Given the description of an element on the screen output the (x, y) to click on. 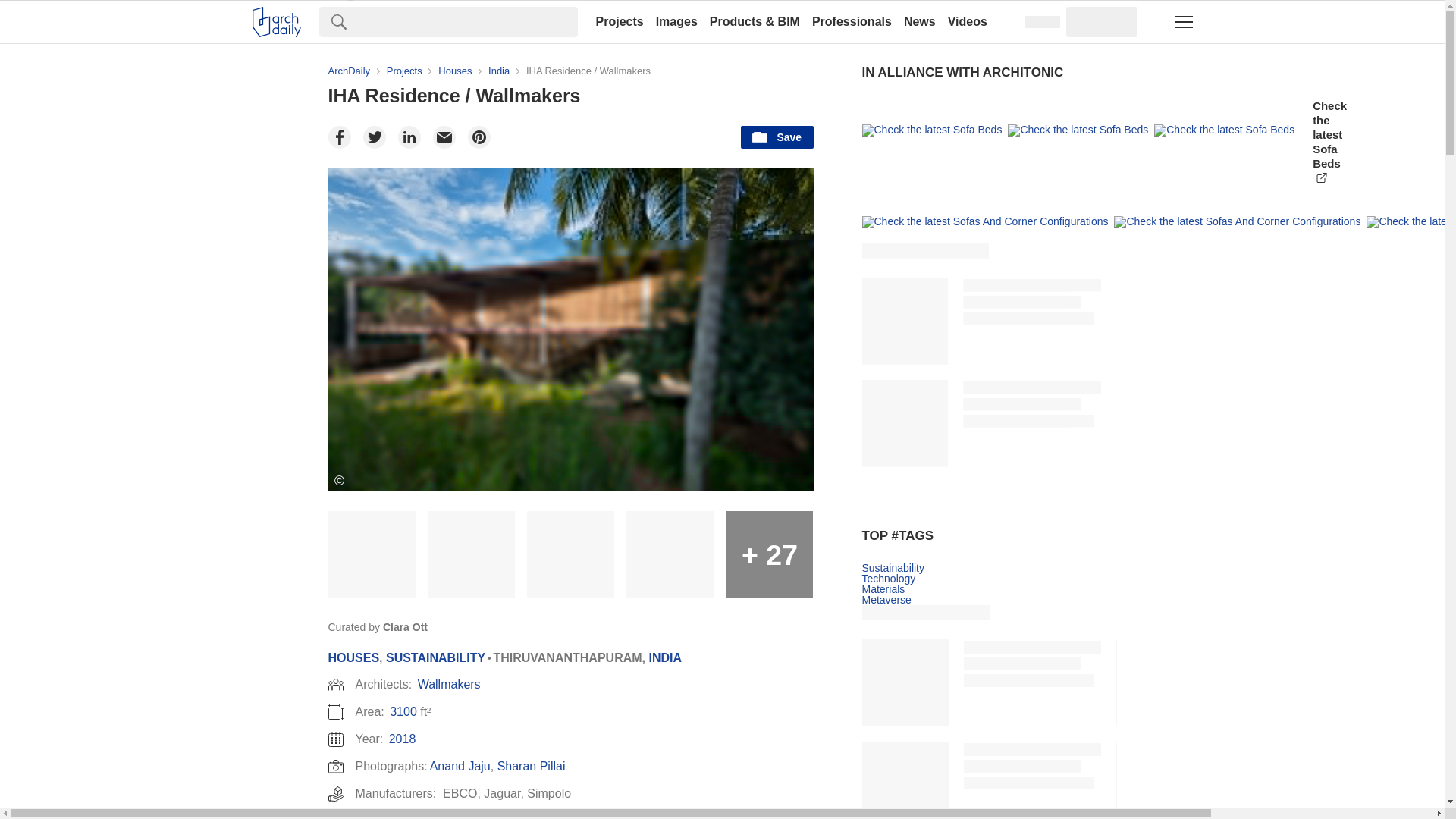
Images (676, 21)
Videos (967, 21)
News (920, 21)
Projects (619, 21)
Professionals (852, 21)
